Given the description of an element on the screen output the (x, y) to click on. 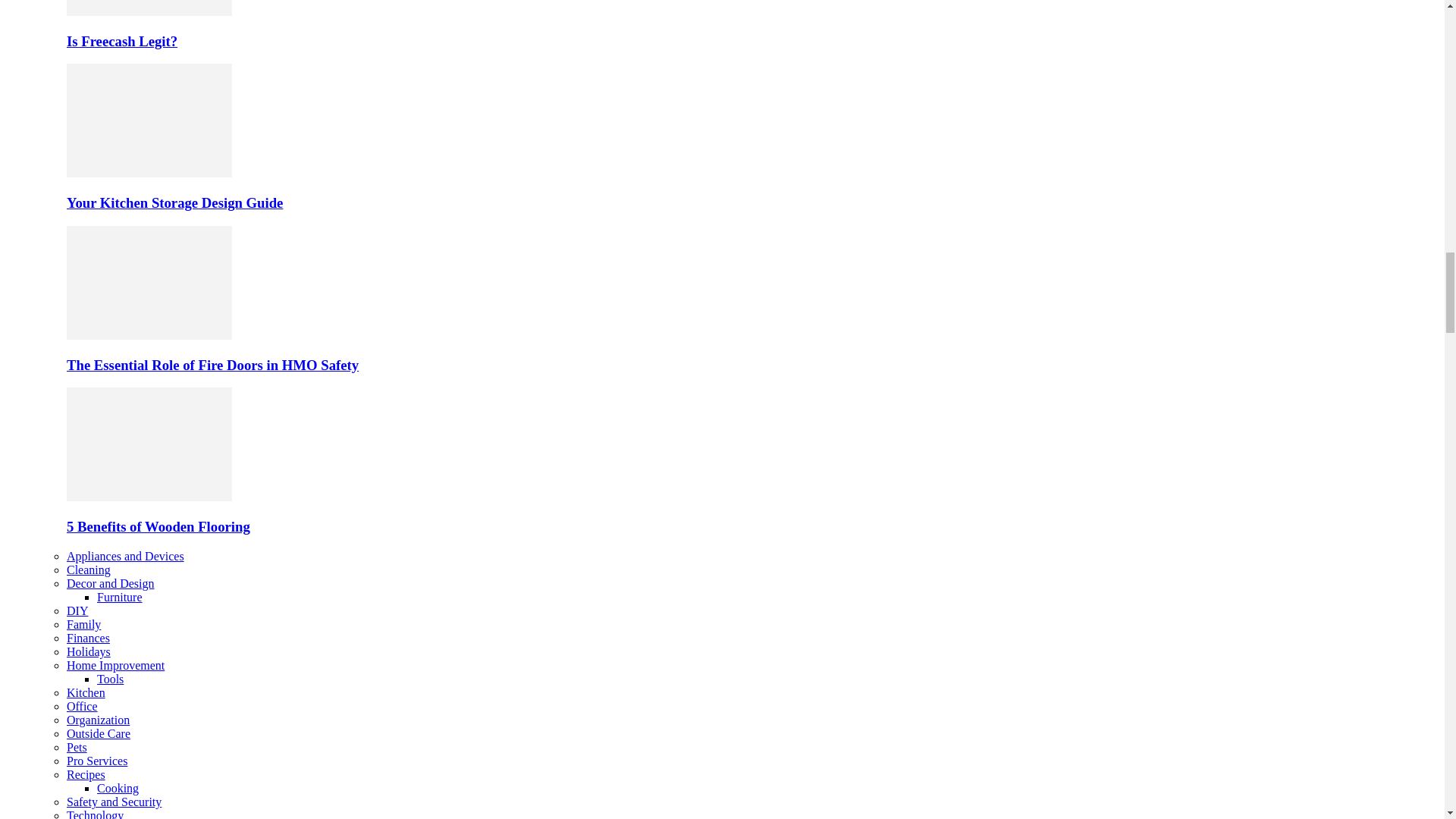
Is Freecash Legit? (121, 41)
Your Kitchen Storage Design Guide (148, 173)
Is Freecash Legit? (148, 7)
Your Kitchen Storage Design Guide (148, 120)
5 Benefits of Wooden Flooring (148, 496)
5 Benefits of Wooden Flooring (158, 526)
5 Benefits of Wooden Flooring (148, 444)
Your Kitchen Storage Design Guide (174, 202)
The Essential Role of Fire Doors in HMO Safety (148, 282)
Is Freecash Legit? (148, 11)
The Essential Role of Fire Doors in HMO Safety (212, 365)
The Essential Role of Fire Doors in HMO Safety (148, 335)
